Given the description of an element on the screen output the (x, y) to click on. 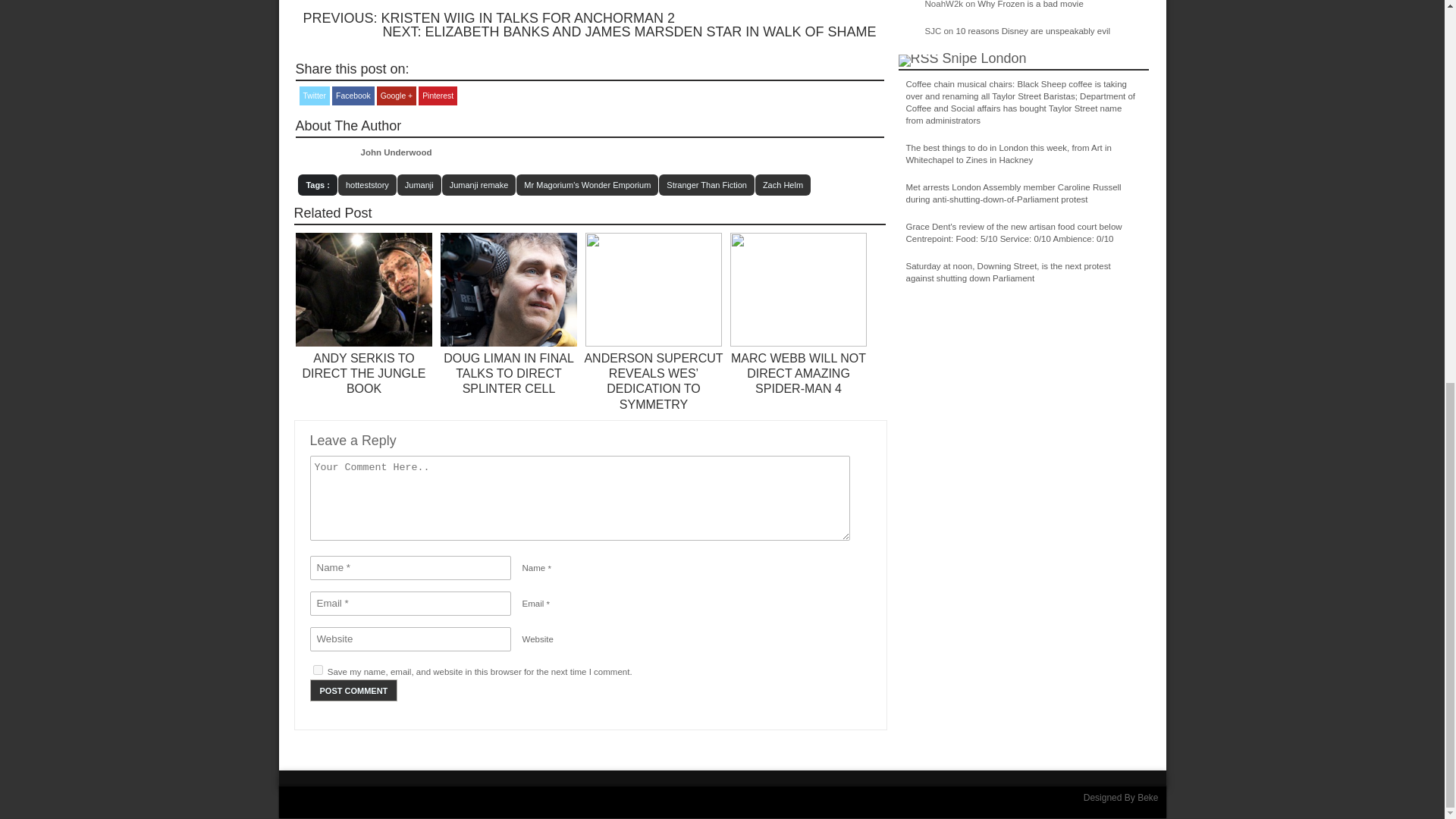
Share on Pinterest! (438, 95)
yes (317, 669)
Pinterest (438, 95)
Jumanji remake (479, 184)
Jumanji (419, 184)
PREVIOUS: KRISTEN WIIG IN TALKS FOR ANCHORMAN 2 (488, 17)
Post Comment (352, 690)
Posts by John Underwood (396, 152)
Andy Serkis to direct The Jungle Book (363, 343)
Twitter (314, 95)
Doug Liman in final talks to direct Splinter Cell (508, 373)
Doug Liman in final talks to direct Splinter Cell (508, 343)
Tweet this! (314, 95)
Share on Facebook! (352, 95)
